Given the description of an element on the screen output the (x, y) to click on. 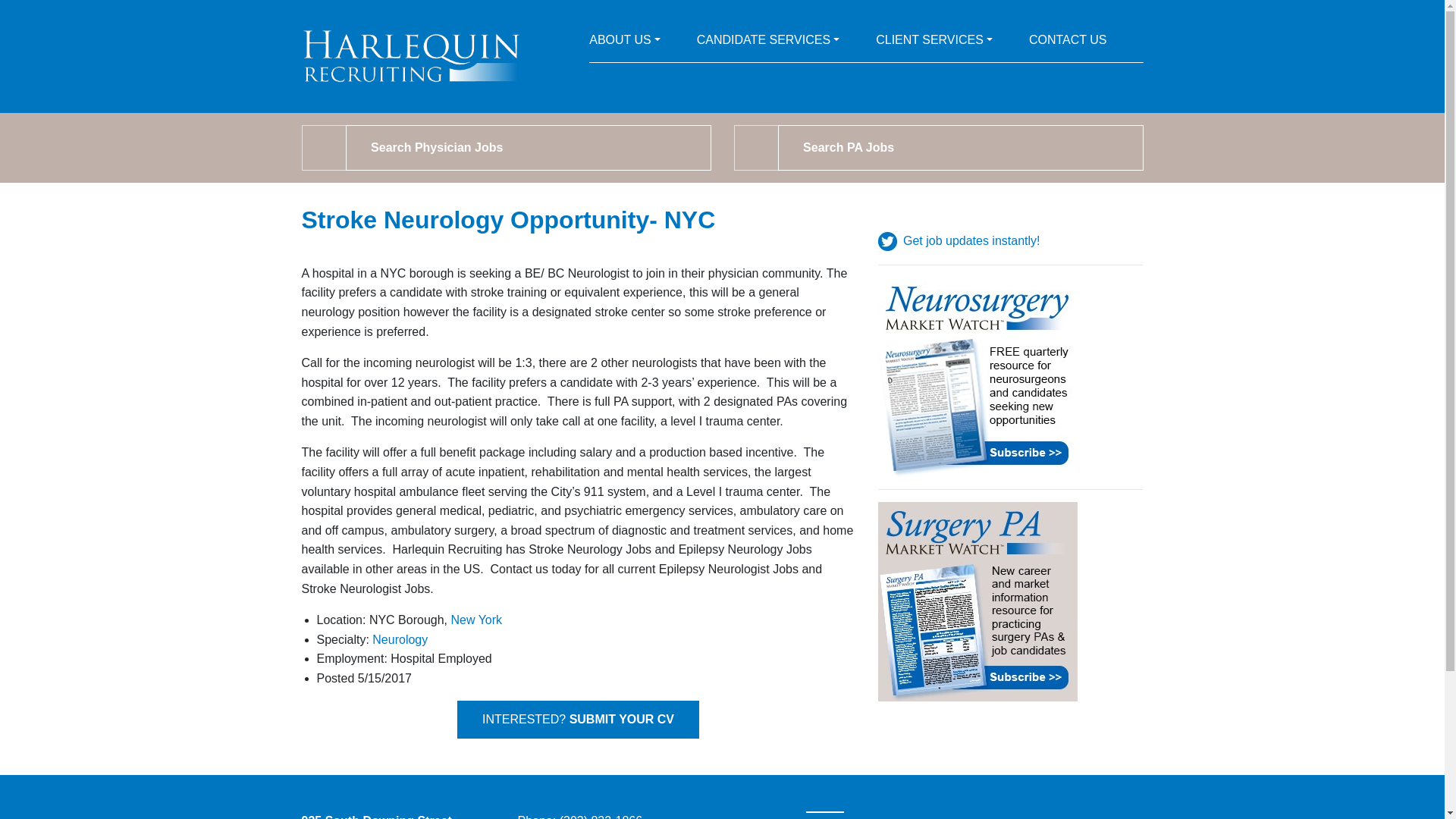
INTERESTED? SUBMIT YOUR CV (577, 719)
ABOUT US (625, 43)
icon-user (625, 43)
New York (475, 619)
icon-lock (768, 43)
icon-phone (1067, 43)
SEARCH (755, 147)
SEARCH (324, 147)
Neurology (400, 639)
CANDIDATE SERVICES (768, 43)
